Given the description of an element on the screen output the (x, y) to click on. 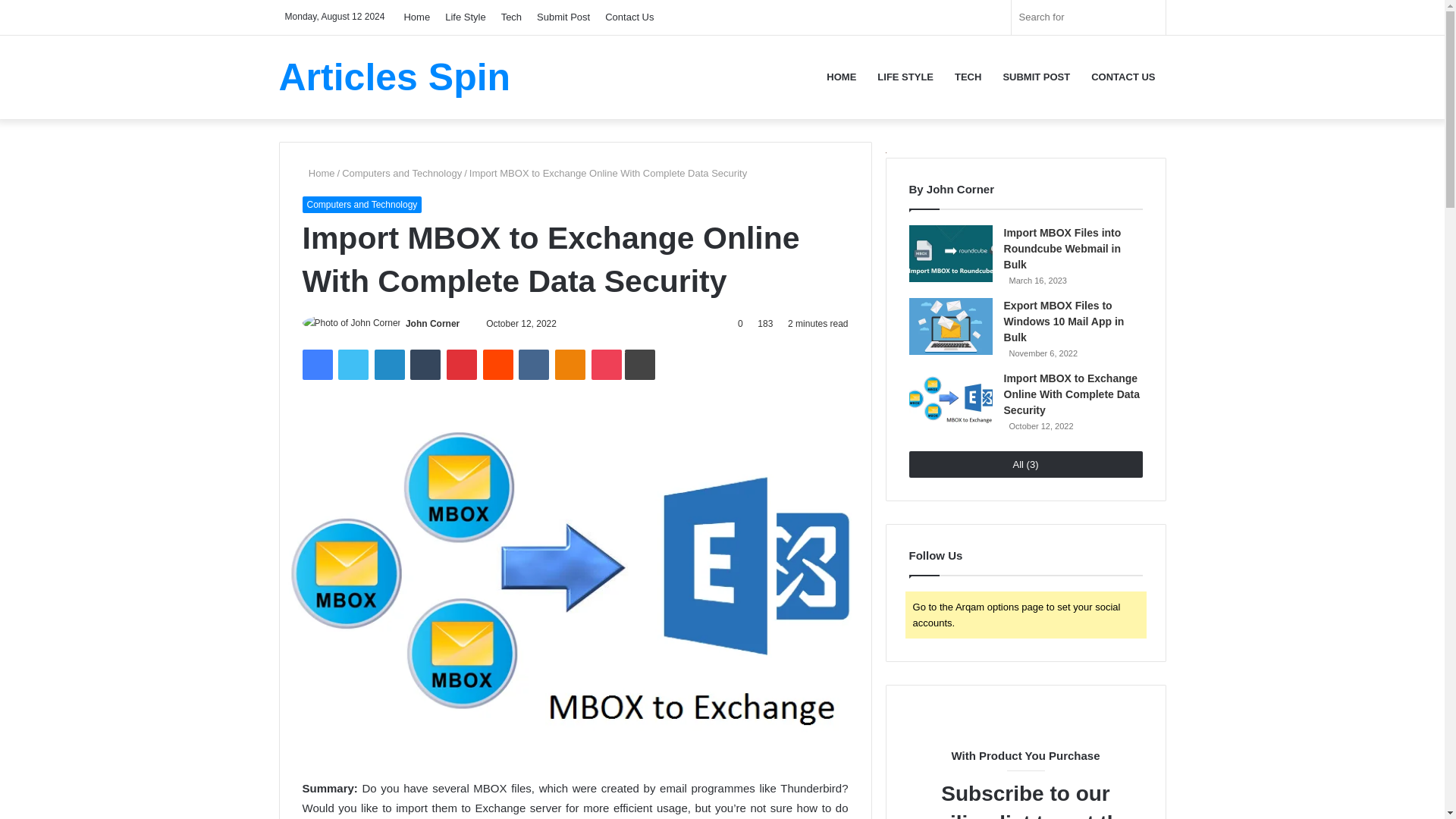
SUBMIT POST (1035, 76)
Pocket (606, 364)
Odnoklassniki (569, 364)
Tumblr (425, 364)
Home (317, 172)
Articles Spin (395, 76)
Home (417, 17)
VKontakte (533, 364)
Search for (1088, 17)
Tumblr (425, 364)
